Given the description of an element on the screen output the (x, y) to click on. 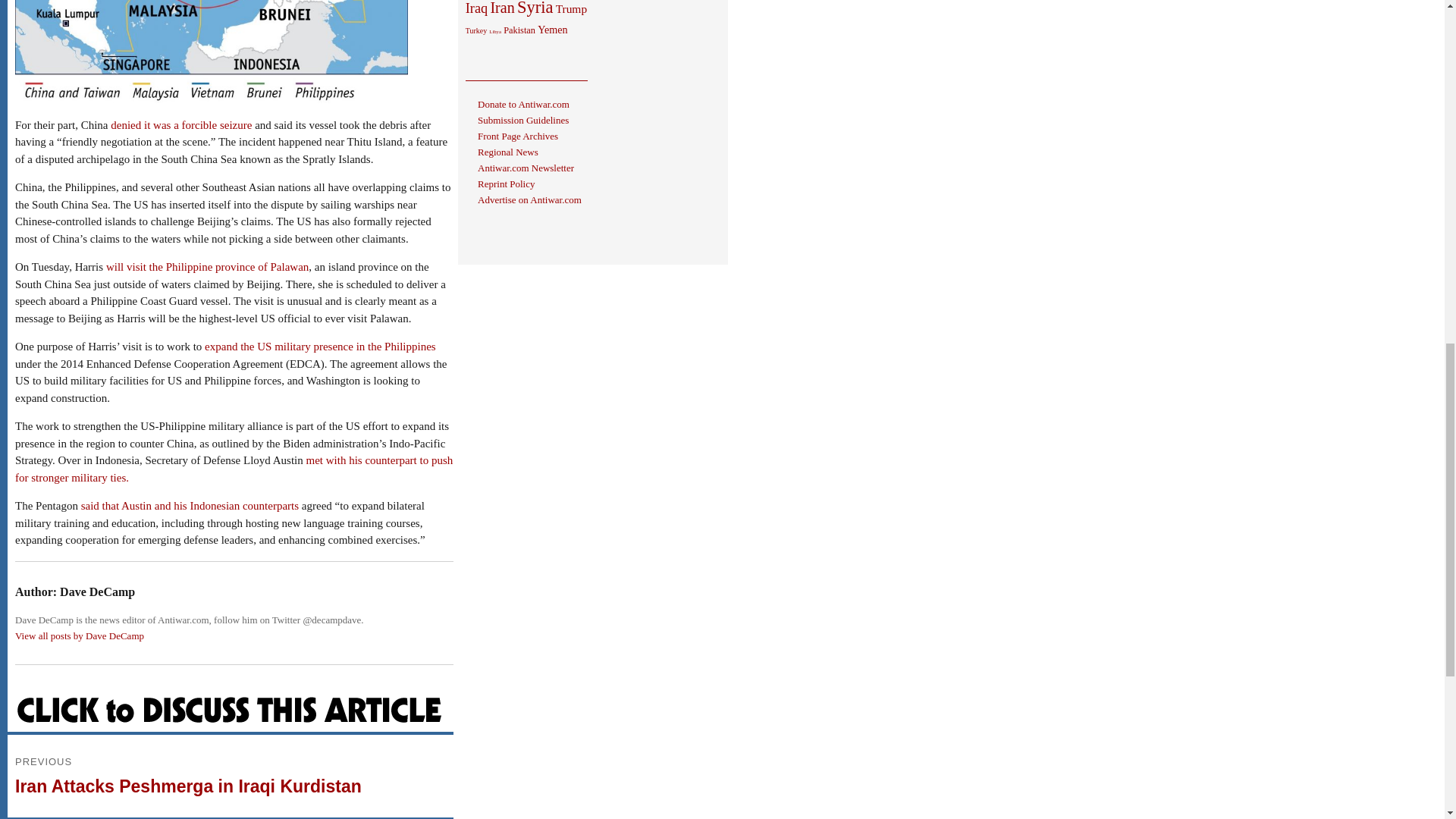
will visit the Philippine province of Palawan (207, 266)
expand the US military presence in the Philippines (320, 346)
said that Austin and his Indonesian counterparts (189, 505)
met with his counterpart to push for stronger military ties. (233, 469)
denied it was a forcible seizure (180, 124)
